Given the description of an element on the screen output the (x, y) to click on. 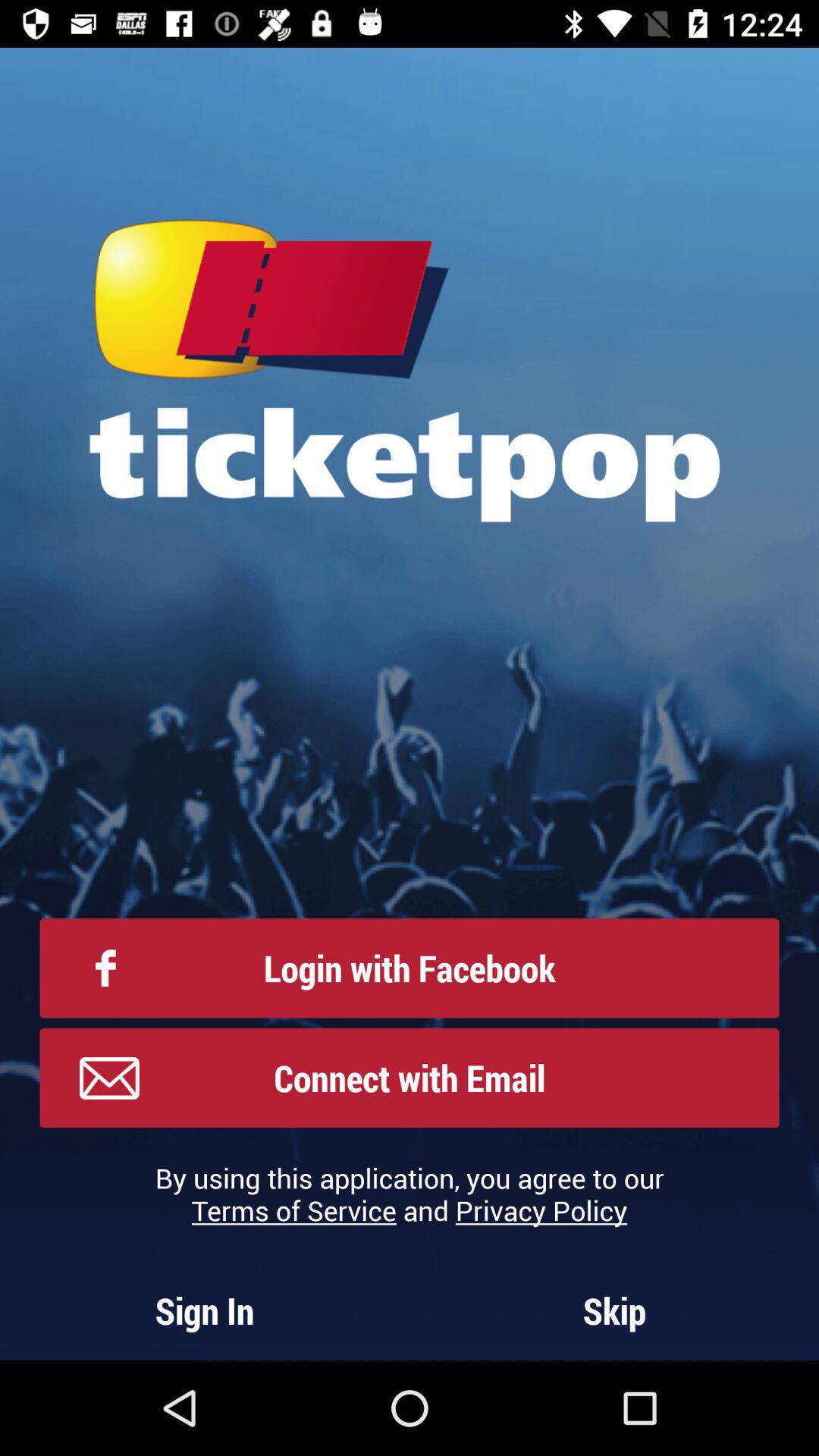
scroll until the by using this icon (409, 1194)
